Given the description of an element on the screen output the (x, y) to click on. 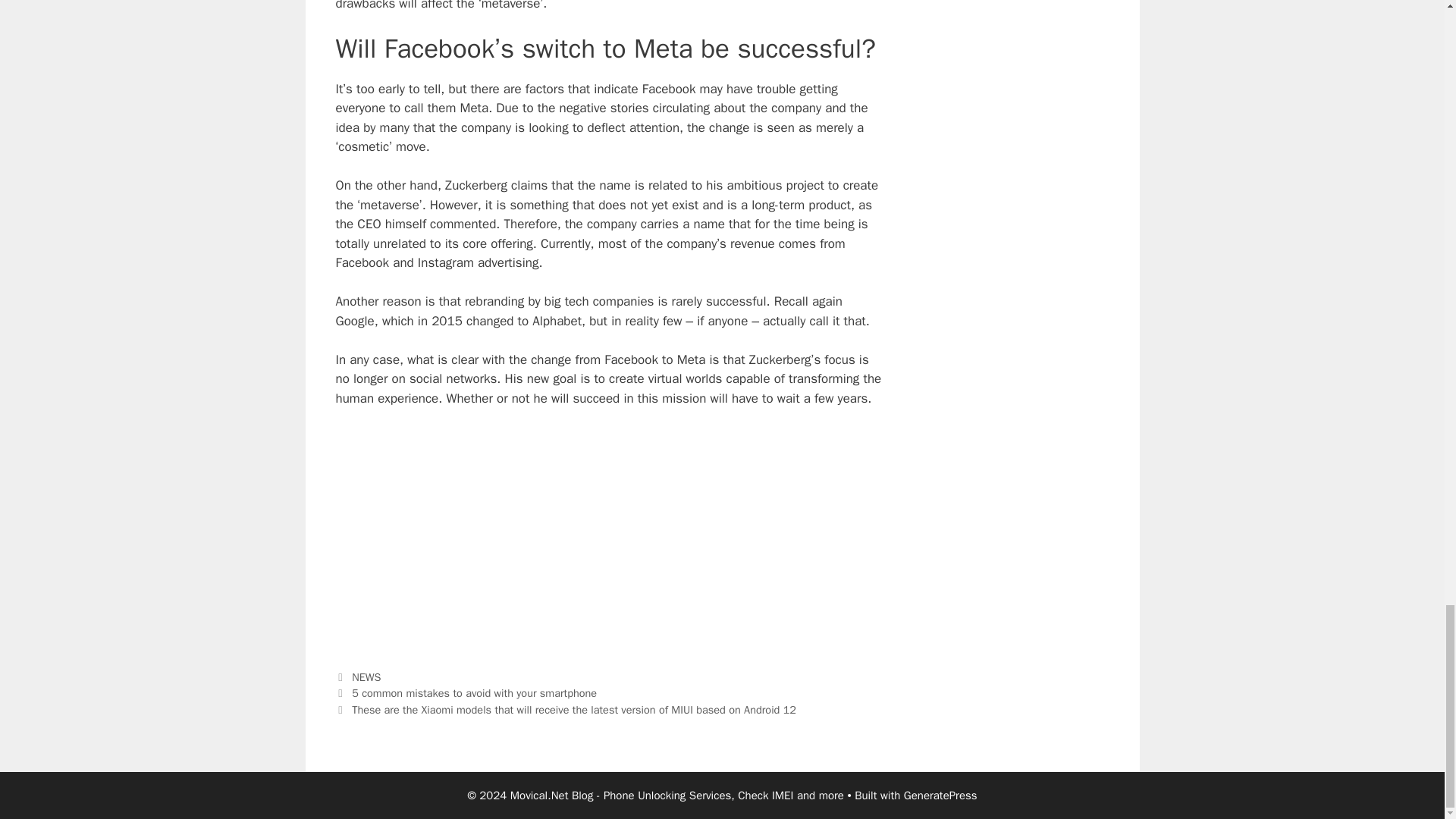
GeneratePress (940, 795)
NEWS (366, 676)
5 common mistakes to avoid with your smartphone (474, 693)
